Given the description of an element on the screen output the (x, y) to click on. 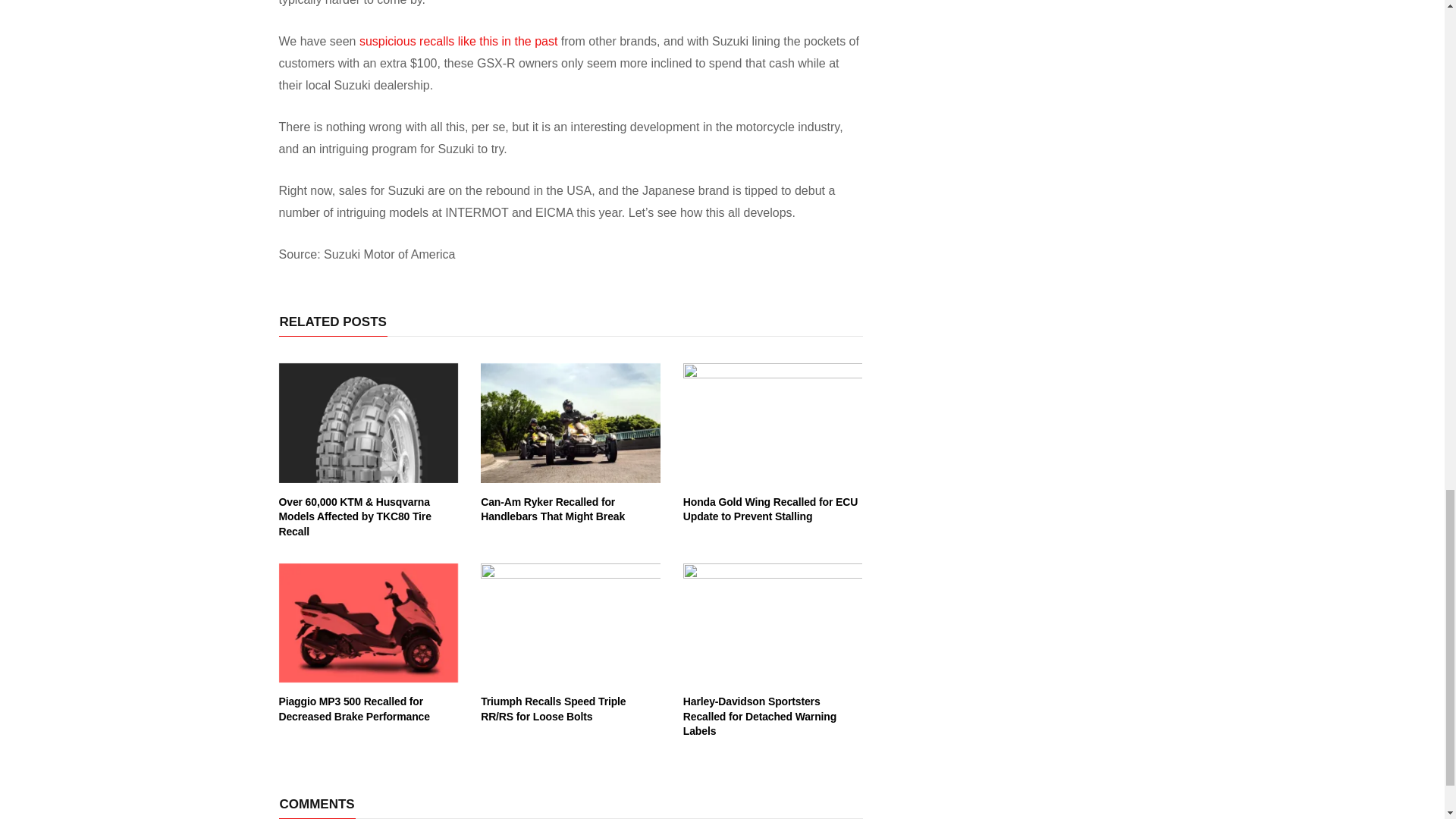
suspicious recalls like this in the past (458, 41)
